Given the description of an element on the screen output the (x, y) to click on. 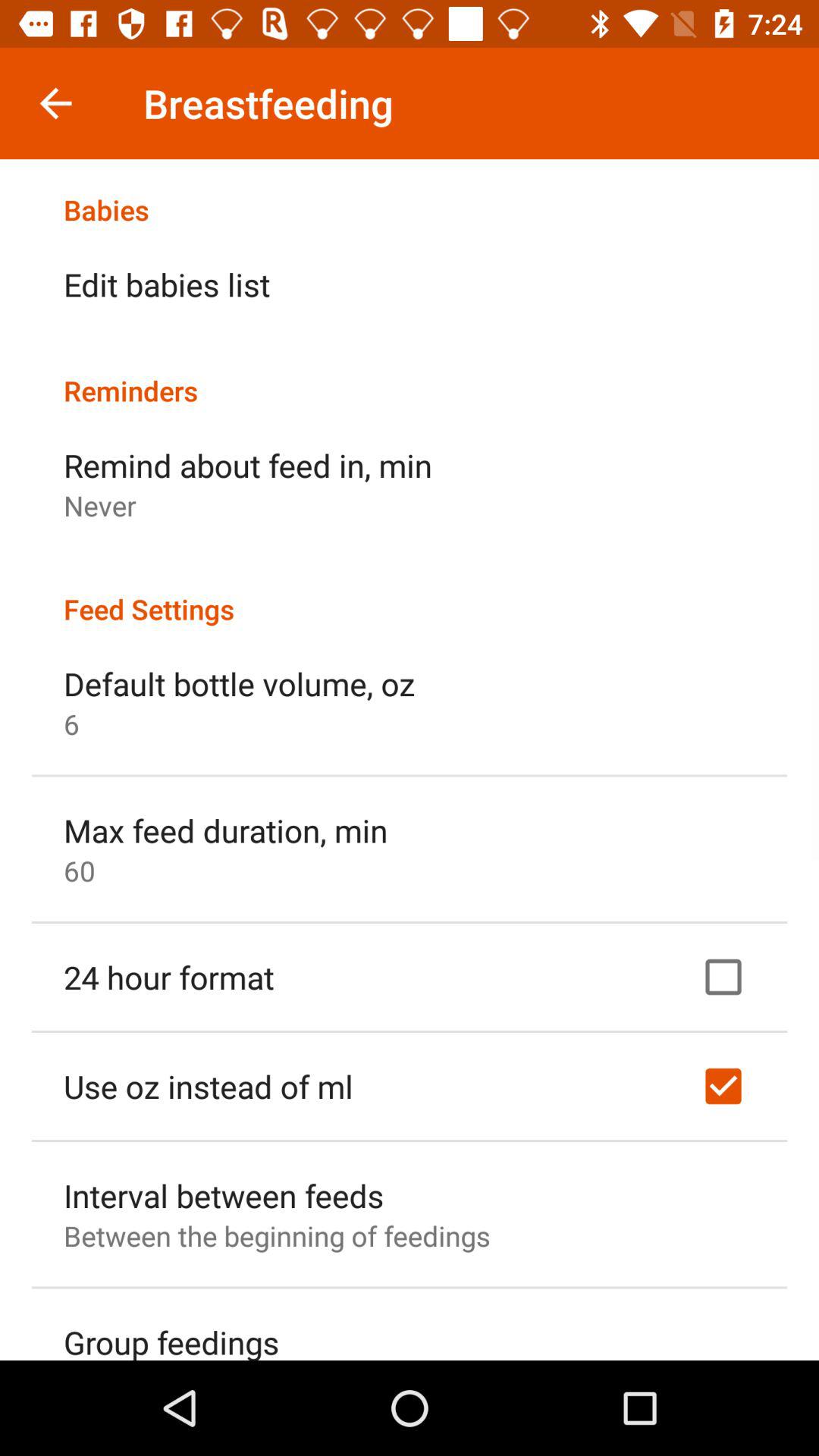
flip to the use oz instead icon (208, 1085)
